Given the description of an element on the screen output the (x, y) to click on. 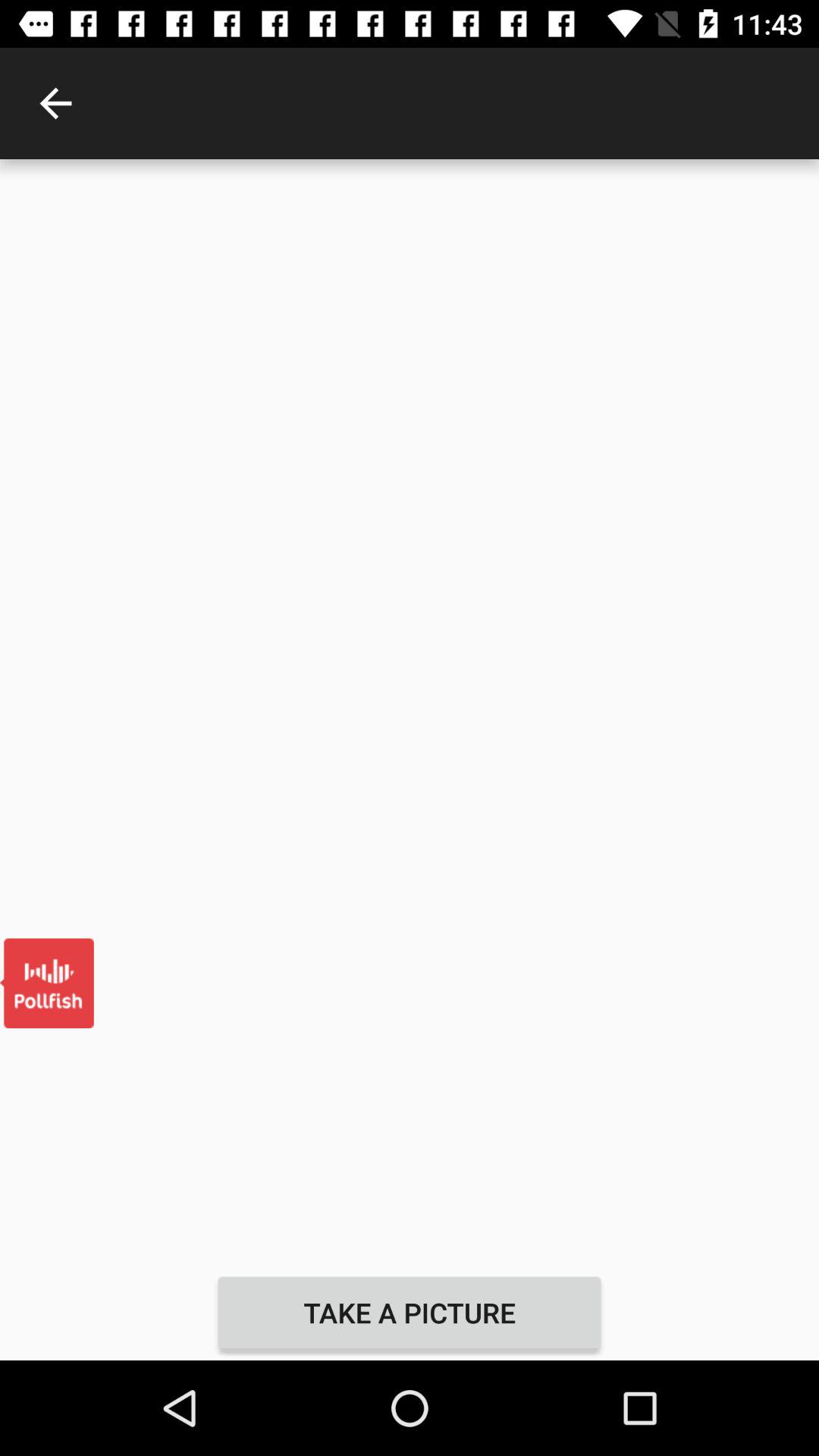
click the take a picture (409, 1312)
